Given the description of an element on the screen output the (x, y) to click on. 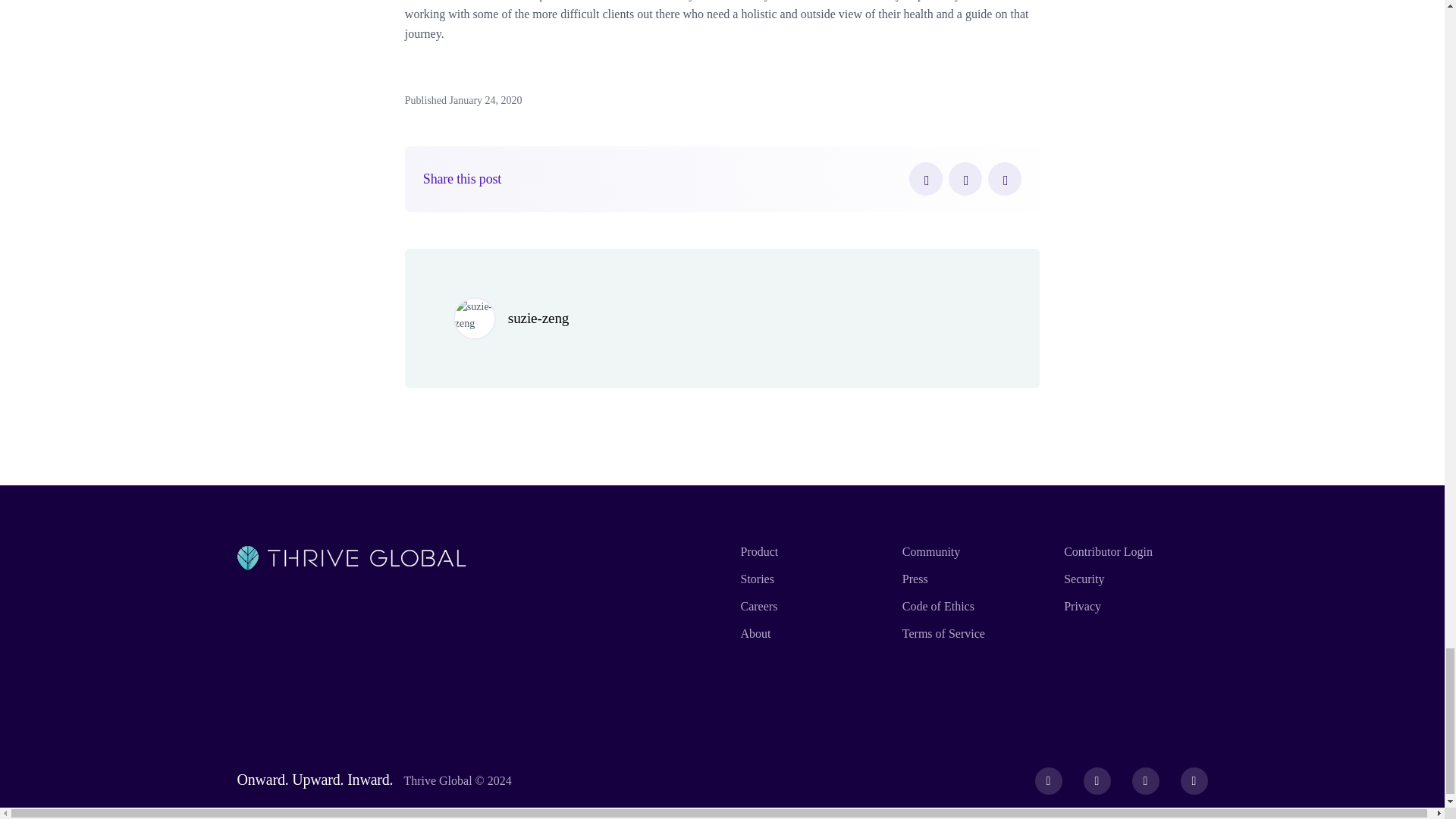
Facebook (925, 178)
suzie-zeng (538, 317)
Twitter (965, 178)
LinkedIn (1005, 178)
